Given the description of an element on the screen output the (x, y) to click on. 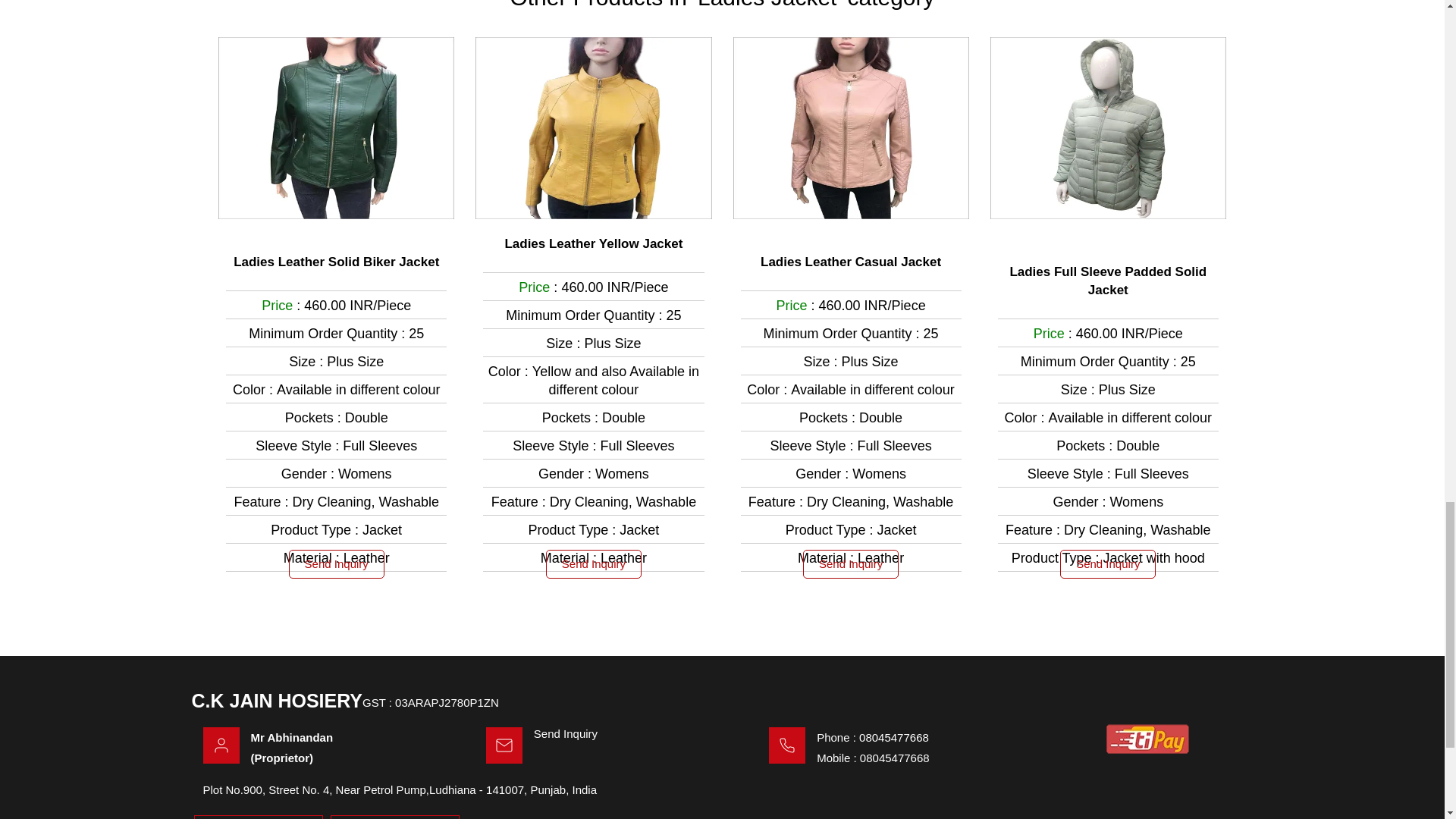
Ladies Leather Casual Jacket (850, 262)
Send Inquiry (565, 733)
Send Inquiry (1107, 563)
Ladies Leather Solid Biker Jacket (335, 262)
Ladies Leather Yellow Jacket (592, 244)
Ladies Full Sleeve Padded Solid Jacket (1107, 280)
Send Inquiry (850, 563)
Send Inquiry (336, 563)
Send Inquiry (594, 563)
